Given the description of an element on the screen output the (x, y) to click on. 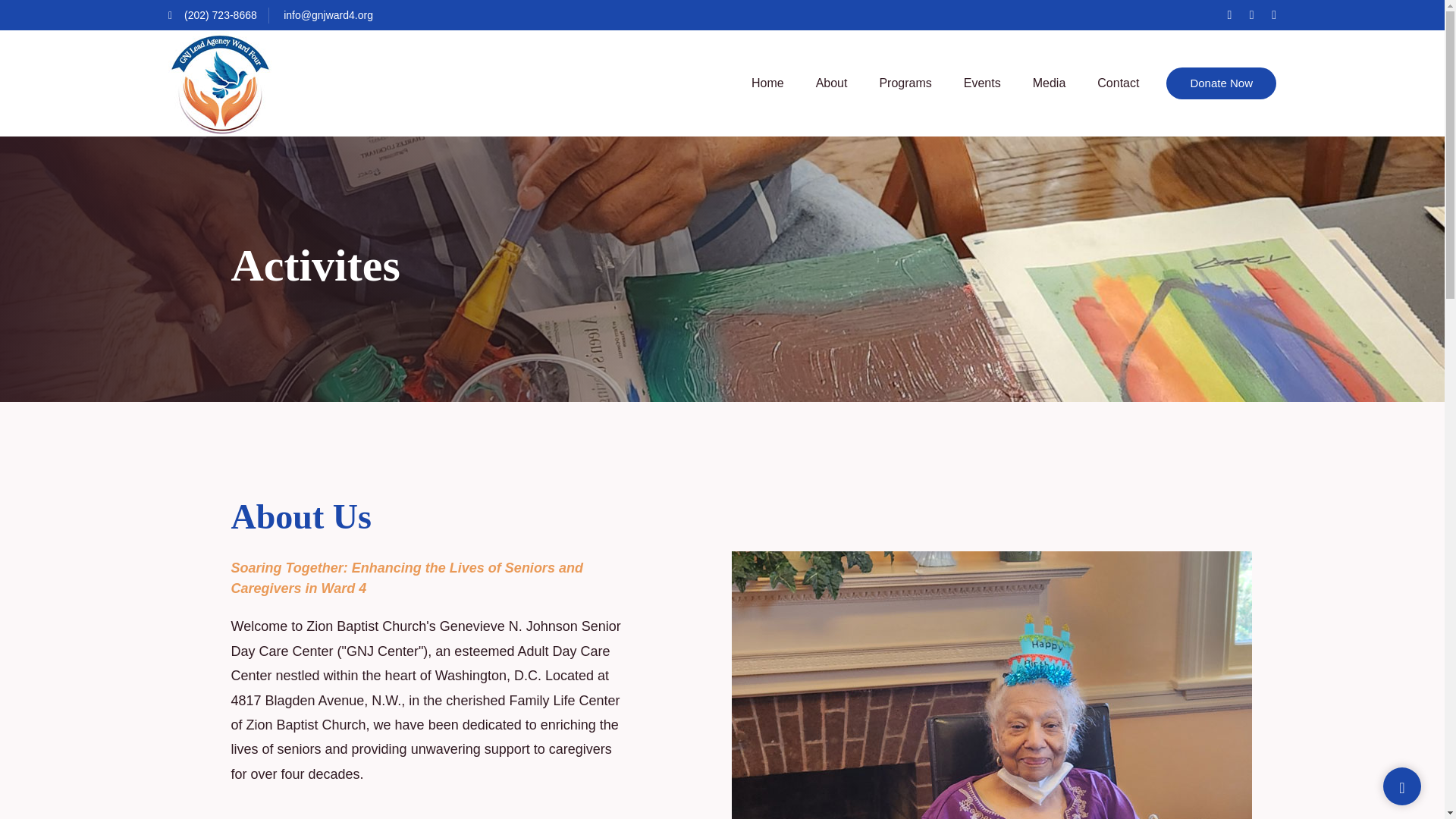
Events (982, 82)
Home (767, 82)
Donate Now (1221, 83)
Media (1049, 82)
Contact (1118, 82)
About (831, 82)
Go to Top (1401, 787)
Programs (904, 82)
